Given the description of an element on the screen output the (x, y) to click on. 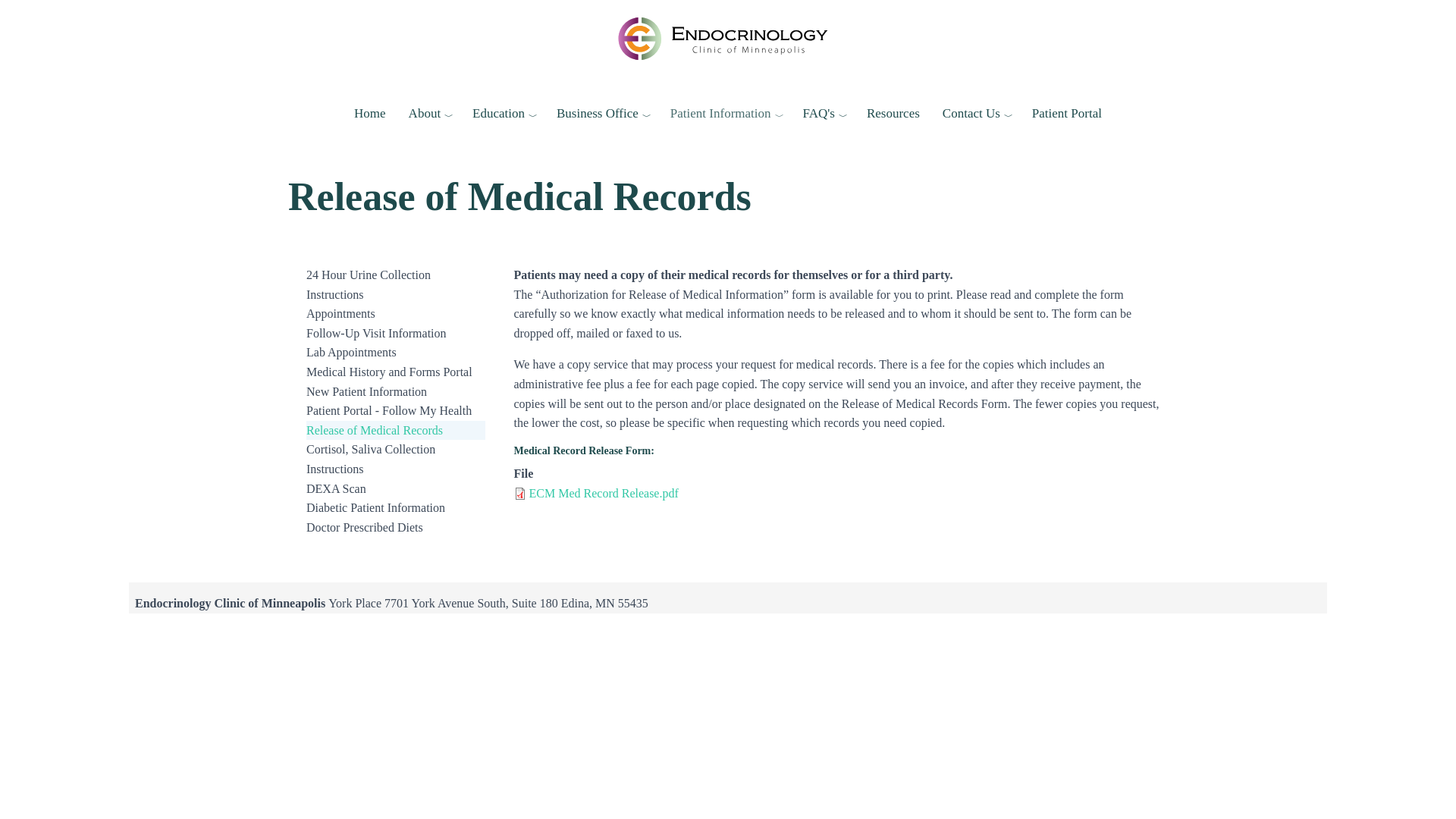
Business Office (601, 114)
Patient Information (725, 114)
Education (502, 114)
Home (727, 38)
